Given the description of an element on the screen output the (x, y) to click on. 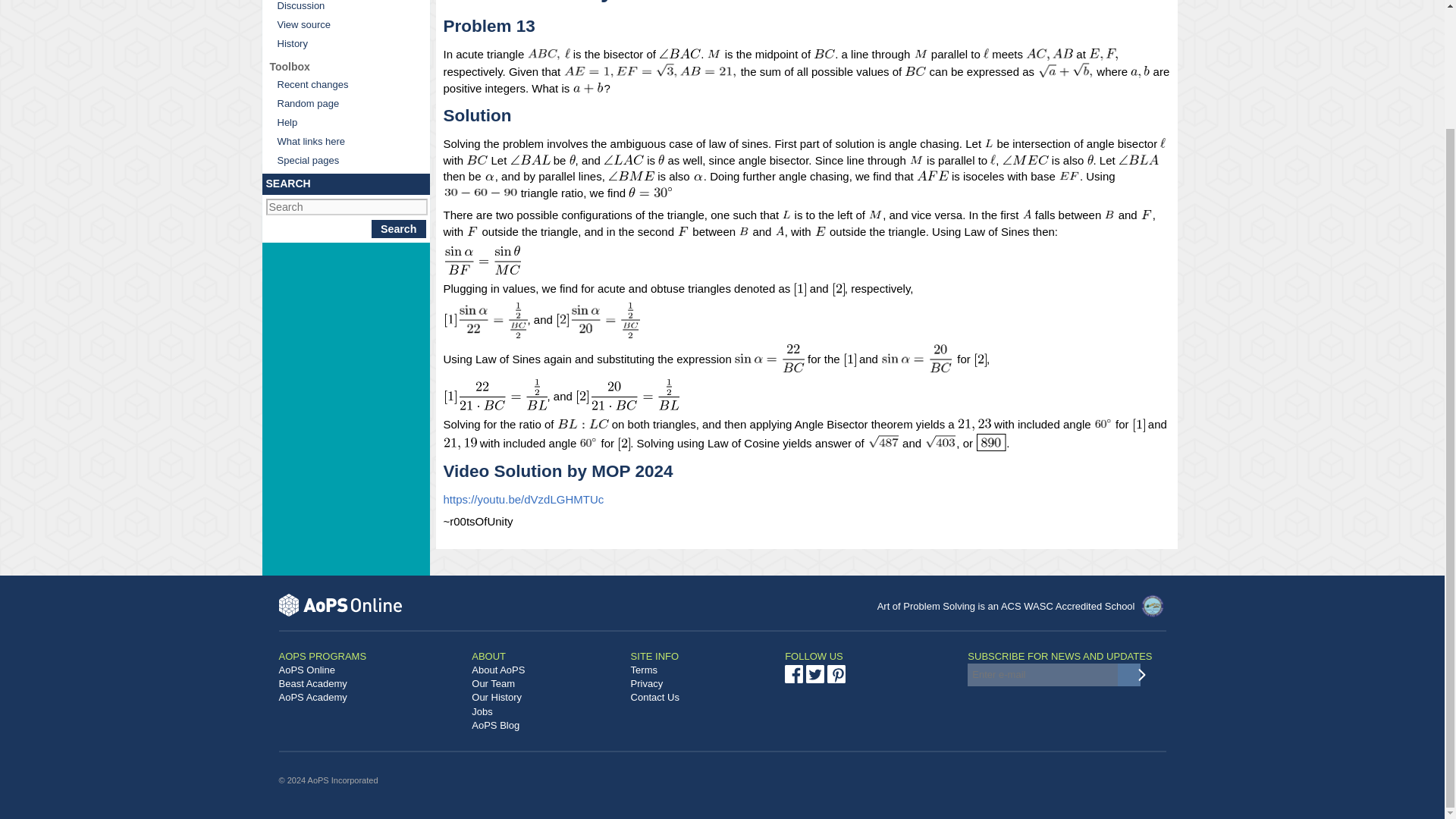
Search (398, 229)
The place to find out (344, 122)
Search (398, 229)
Search the pages for this text (398, 229)
